Given the description of an element on the screen output the (x, y) to click on. 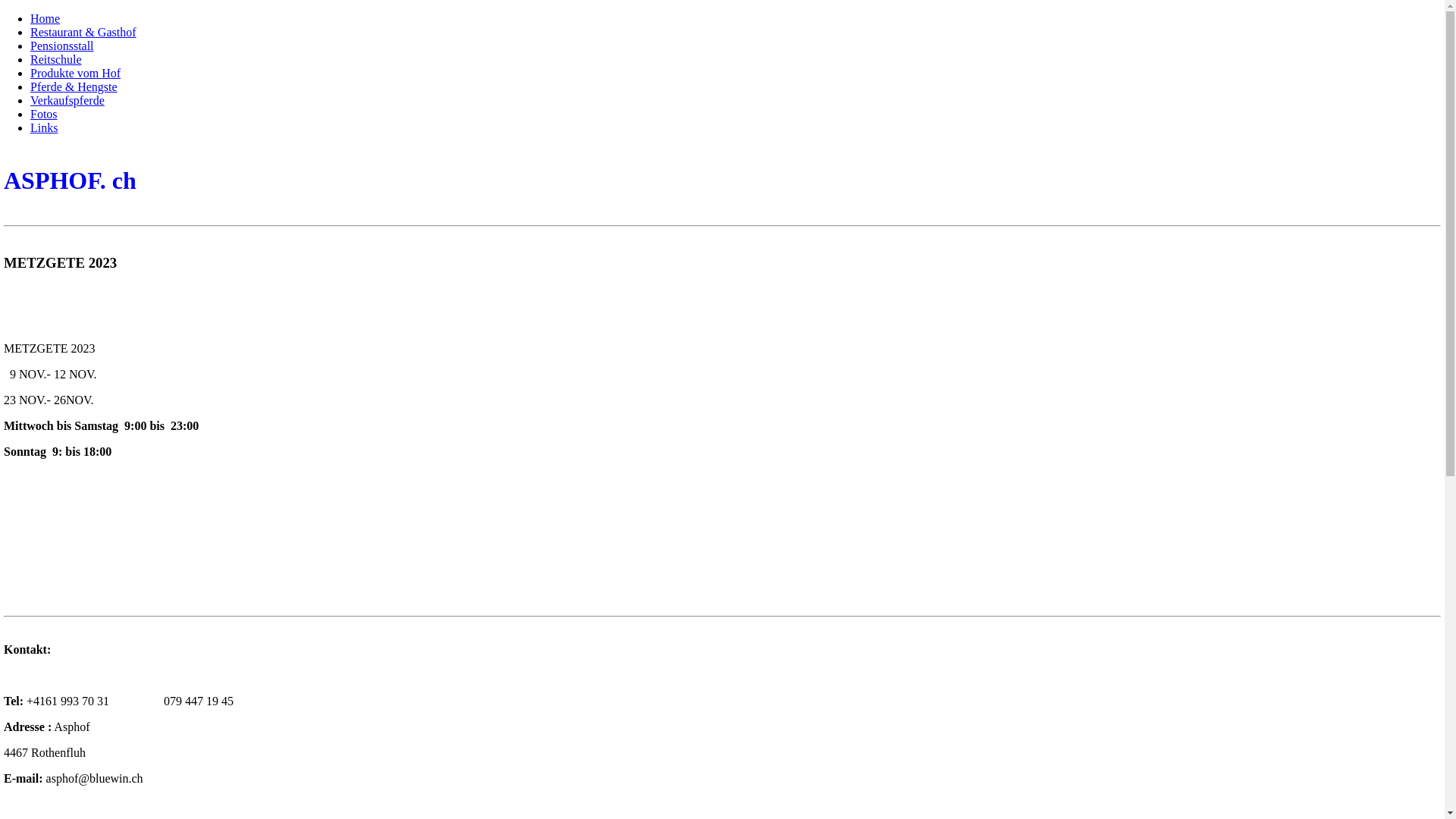
Produkte vom Hof Element type: text (75, 72)
Pensionsstall Element type: text (62, 45)
Links Element type: text (43, 127)
Pferde & Hengste Element type: text (73, 86)
Reitschule Element type: text (55, 59)
Restaurant & Gasthof Element type: text (83, 31)
Verkaufspferde Element type: text (67, 100)
ASPHOF. ch Element type: text (721, 180)
Home Element type: text (44, 18)
Fotos Element type: text (43, 113)
